Given the description of an element on the screen output the (x, y) to click on. 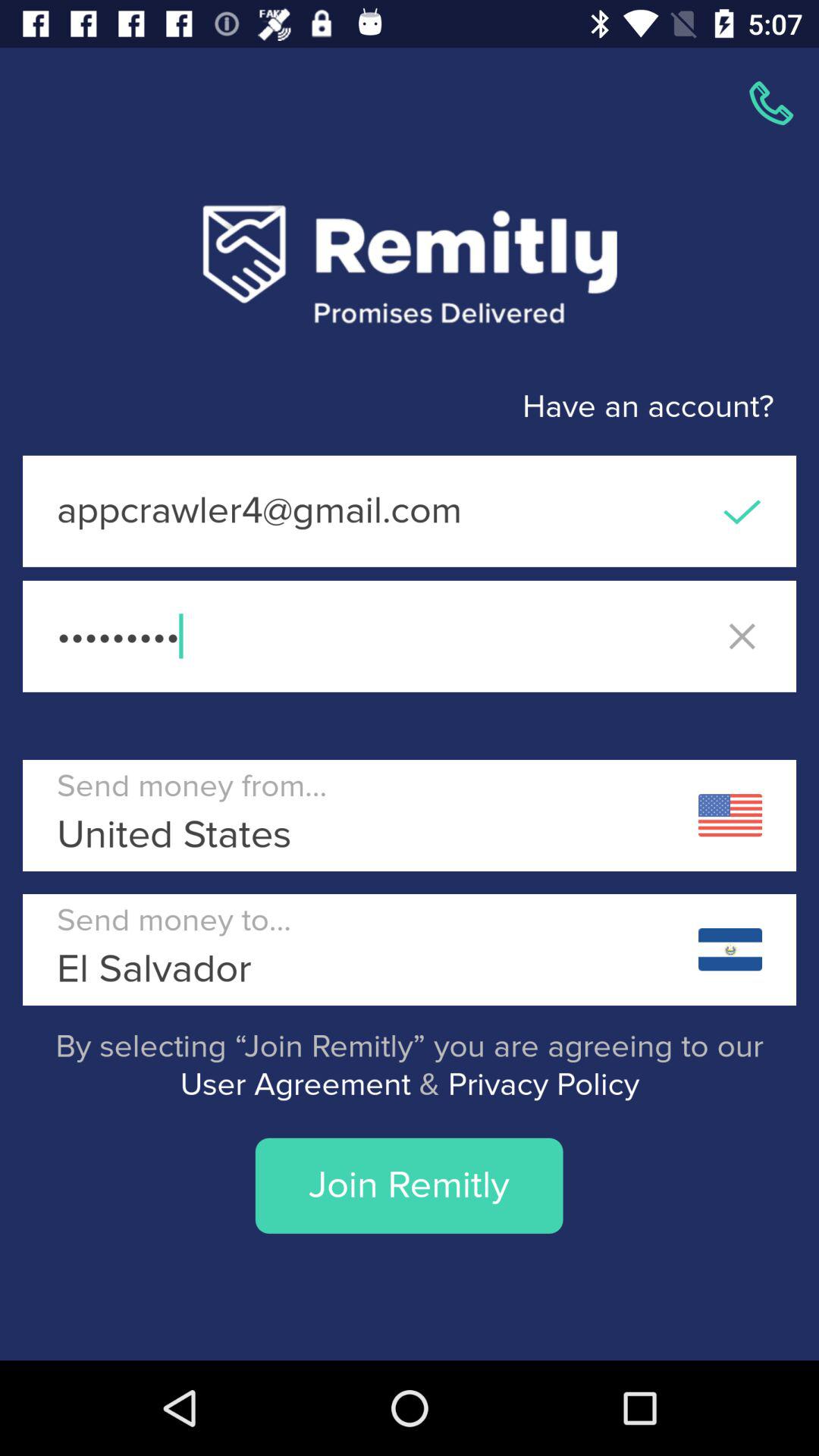
swipe to the crowd3116 item (409, 636)
